Given the description of an element on the screen output the (x, y) to click on. 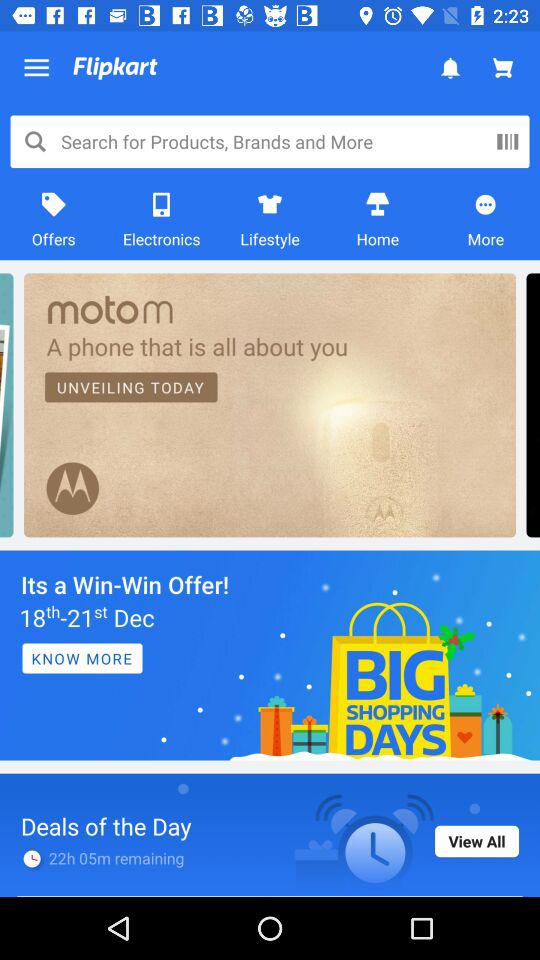
click on the extreme right icon in the search bar (508, 141)
click on the icon which is just above the text electronics (161, 204)
select the complete text which is in the ream color box (269, 404)
click on lifestyle  icon (269, 204)
click on more at the top (486, 219)
